Given the description of an element on the screen output the (x, y) to click on. 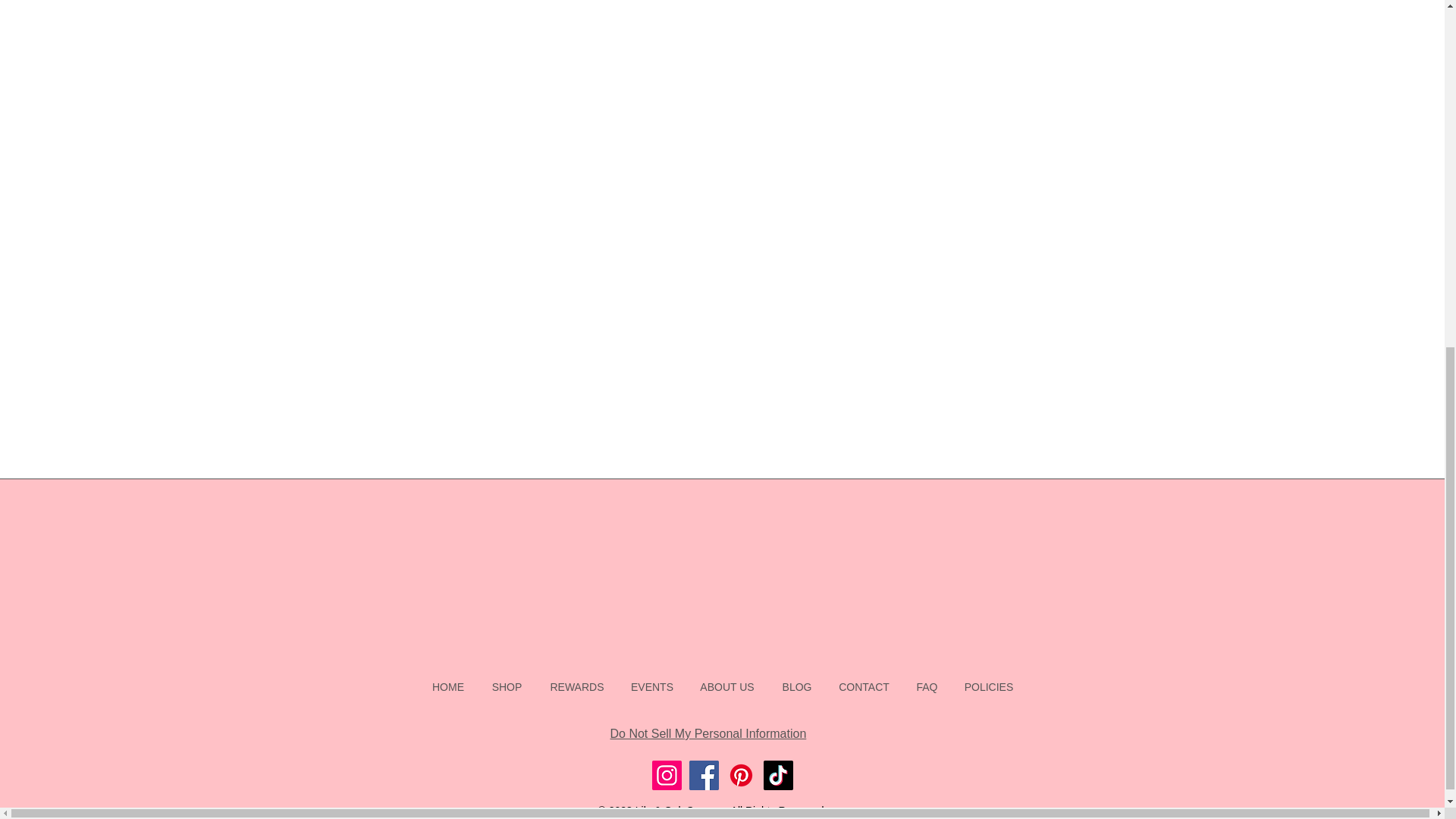
HOME (449, 686)
